Given the description of an element on the screen output the (x, y) to click on. 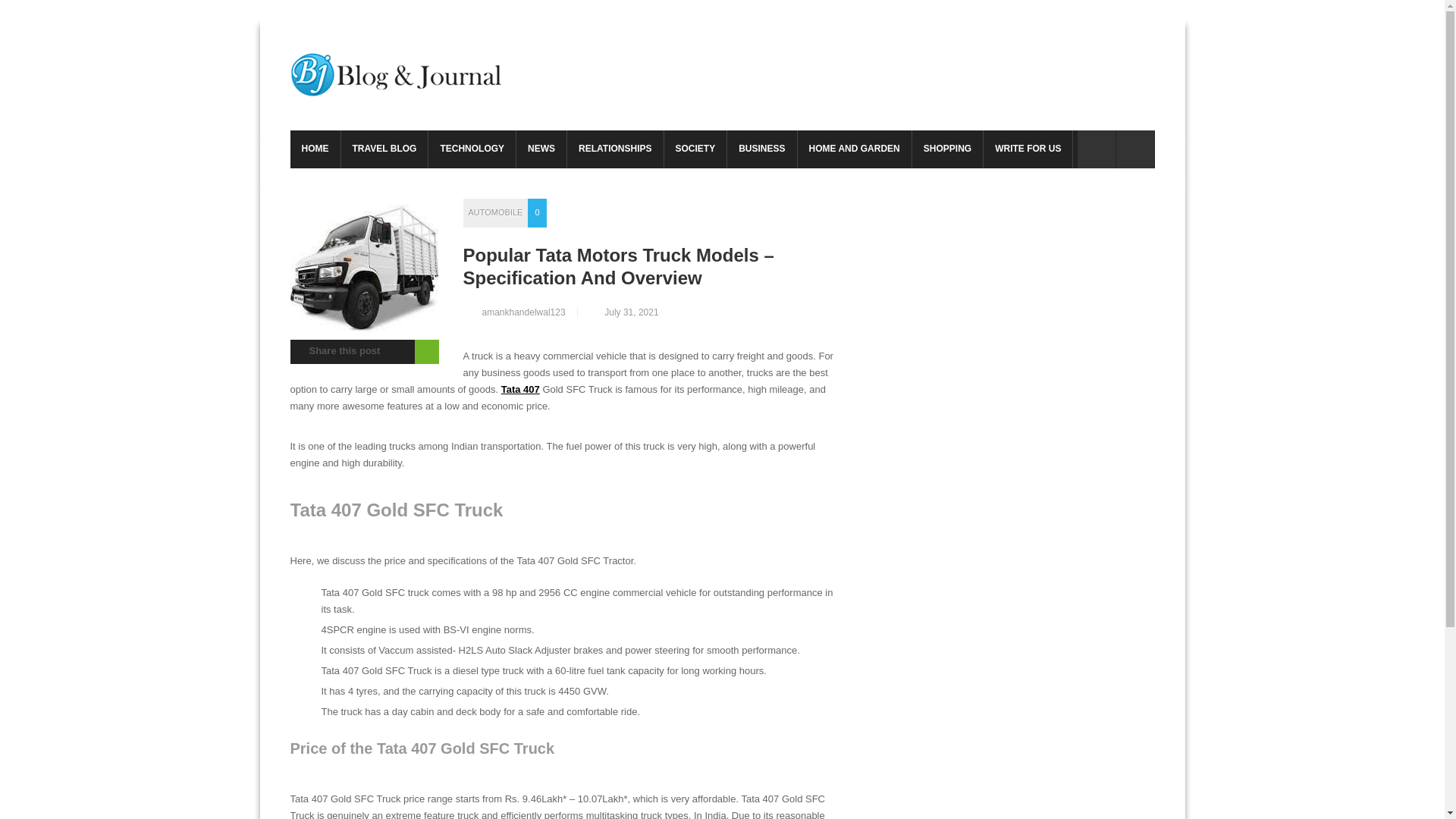
HOME (314, 148)
Tata 407 (520, 389)
SOCIETY (694, 148)
Log in (1096, 149)
Share this post (336, 349)
RELATIONSHIPS (614, 148)
WRITE FOR US (1027, 148)
July 31, 2021 (621, 312)
SHOPPING (947, 148)
amankhandelwal123 (519, 312)
